Given the description of an element on the screen output the (x, y) to click on. 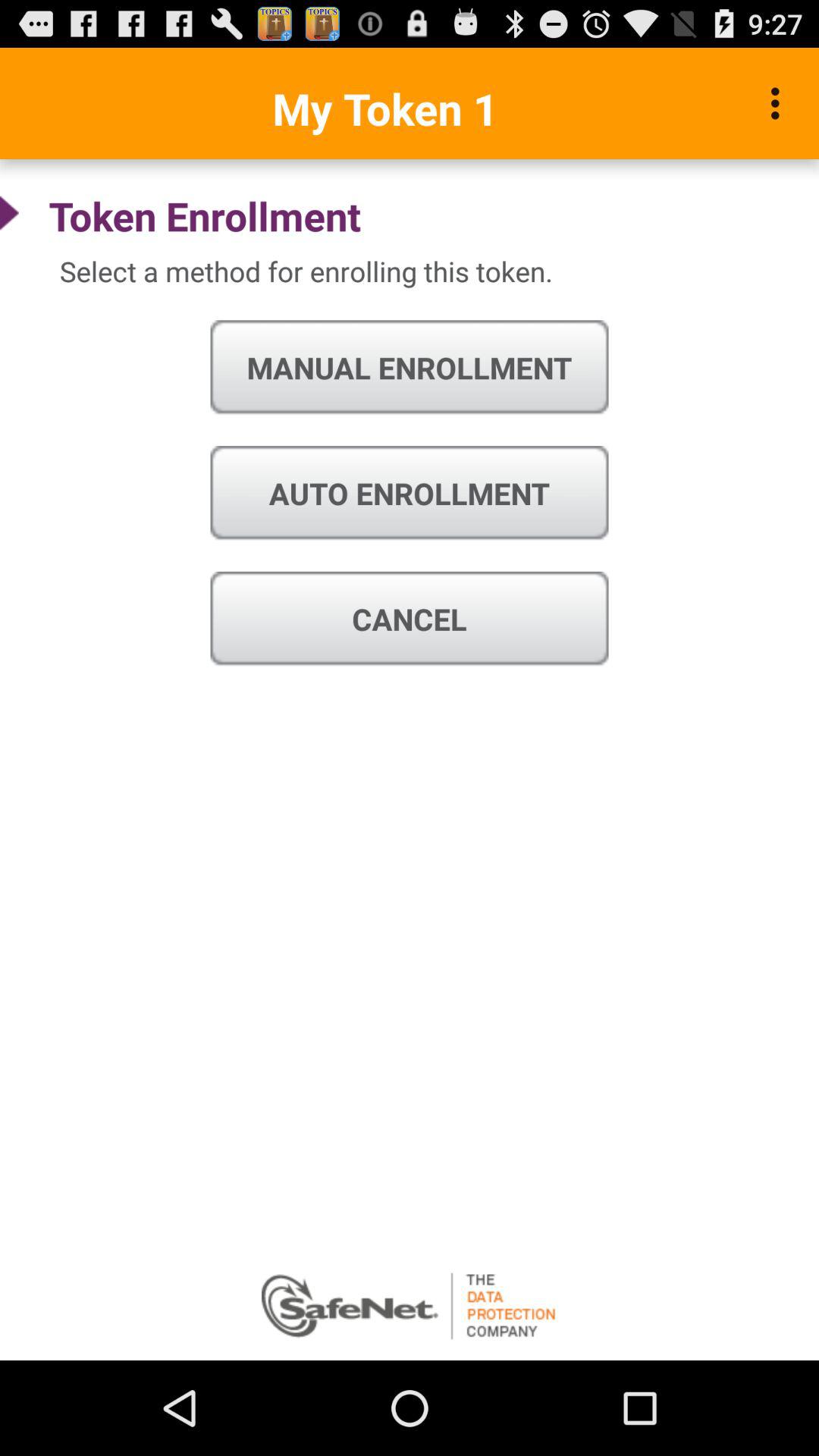
choose item to the right of my token 1 icon (779, 103)
